Given the description of an element on the screen output the (x, y) to click on. 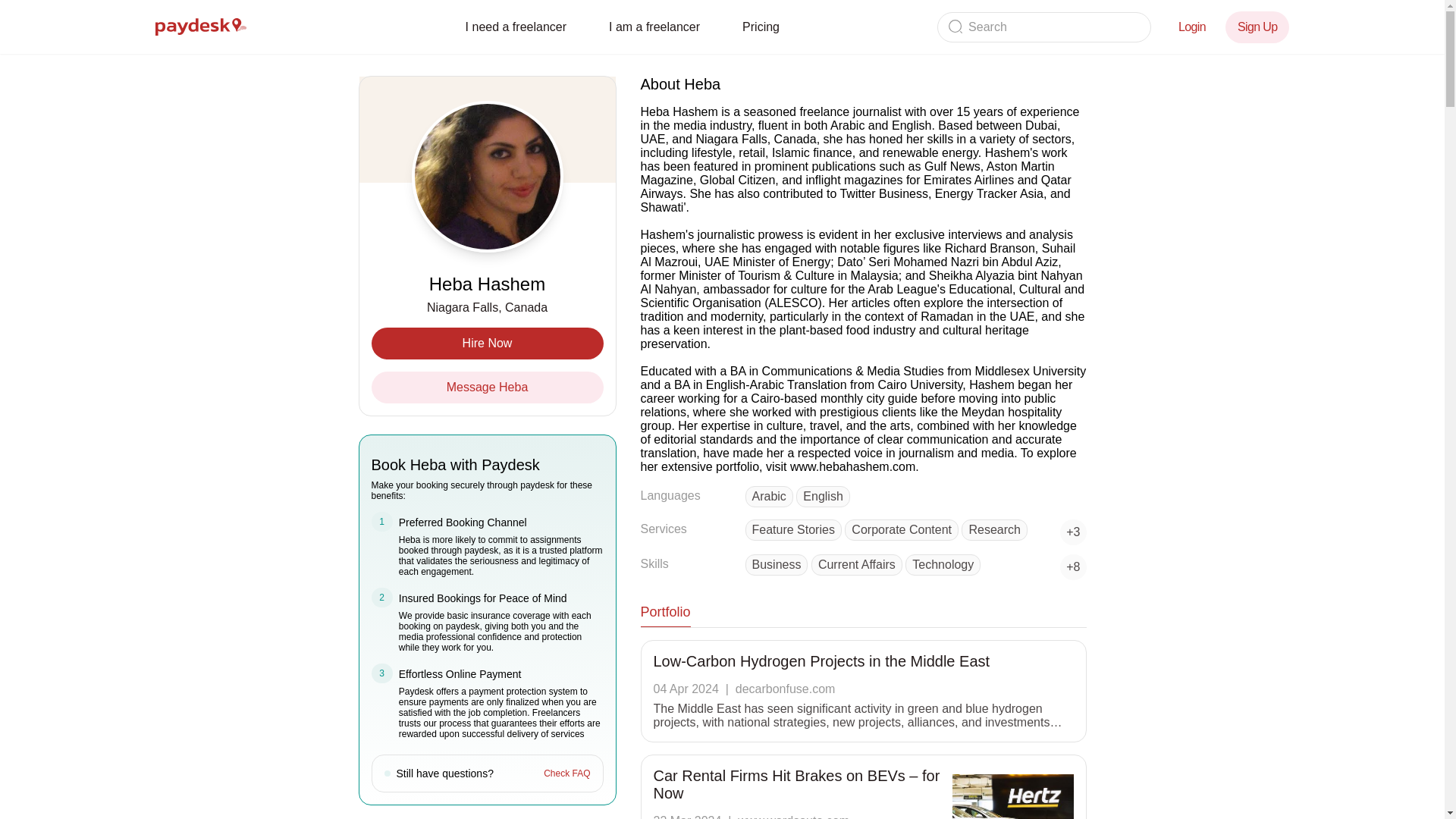
I need a freelancer (515, 26)
Sign Up (1256, 26)
Pricing (761, 26)
Hire Now (487, 343)
I am a freelancer (654, 26)
Message Heba (487, 387)
Check FAQ (566, 773)
